Given the description of an element on the screen output the (x, y) to click on. 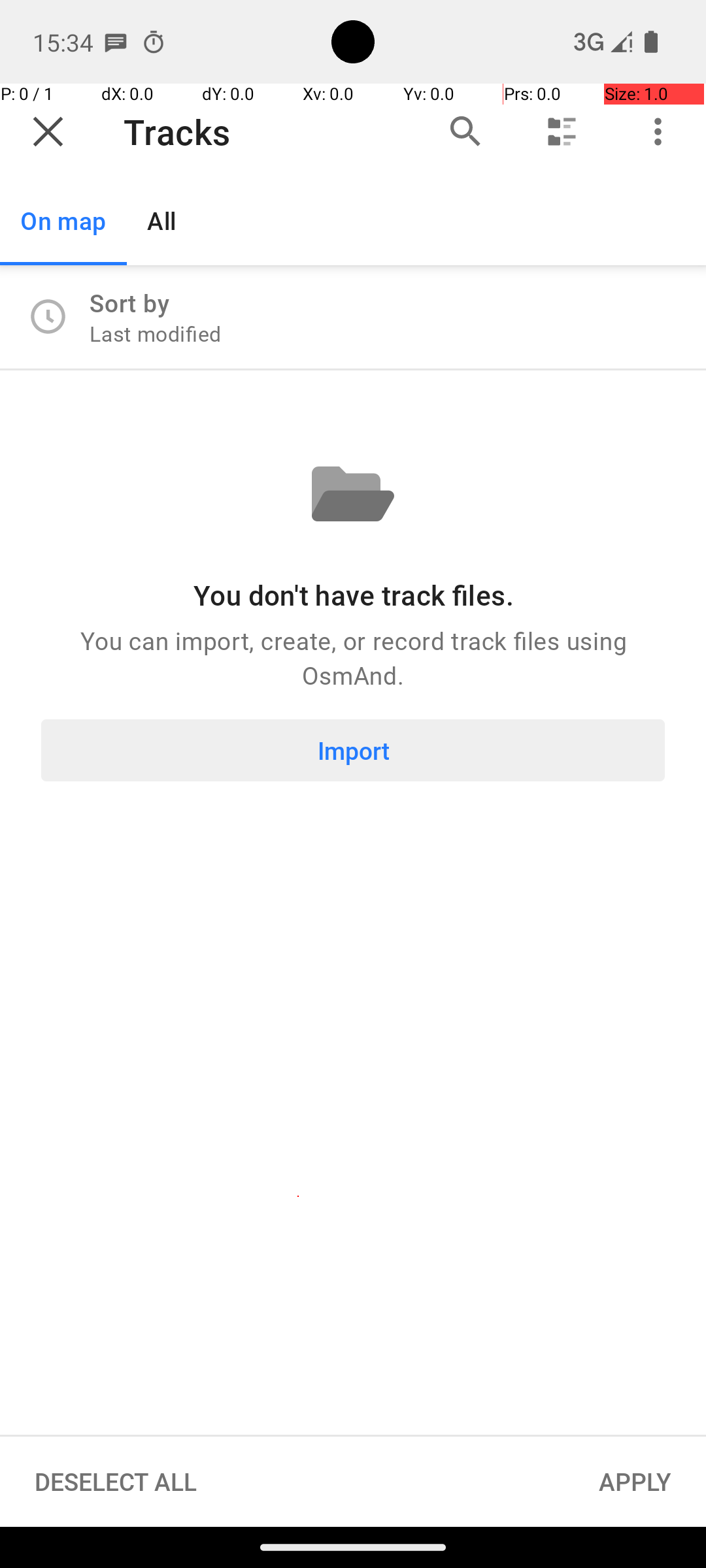
Switch folder Element type: android.widget.ImageButton (561, 131)
More actions Element type: android.widget.ImageButton (657, 131)
DESELECT ALL Element type: android.widget.TextView (115, 1481)
APPLY Element type: android.widget.TextView (634, 1481)
On map Element type: android.widget.TextView (63, 220)
All Element type: android.widget.TextView (161, 220)
Last modified Element type: android.widget.TextView (155, 333)
You don't have track files. Element type: android.widget.TextView (352, 594)
You can import, create, or record track files using OsmAnd. Element type: android.widget.TextView (352, 657)
Import Element type: android.widget.TextView (352, 750)
